Given the description of an element on the screen output the (x, y) to click on. 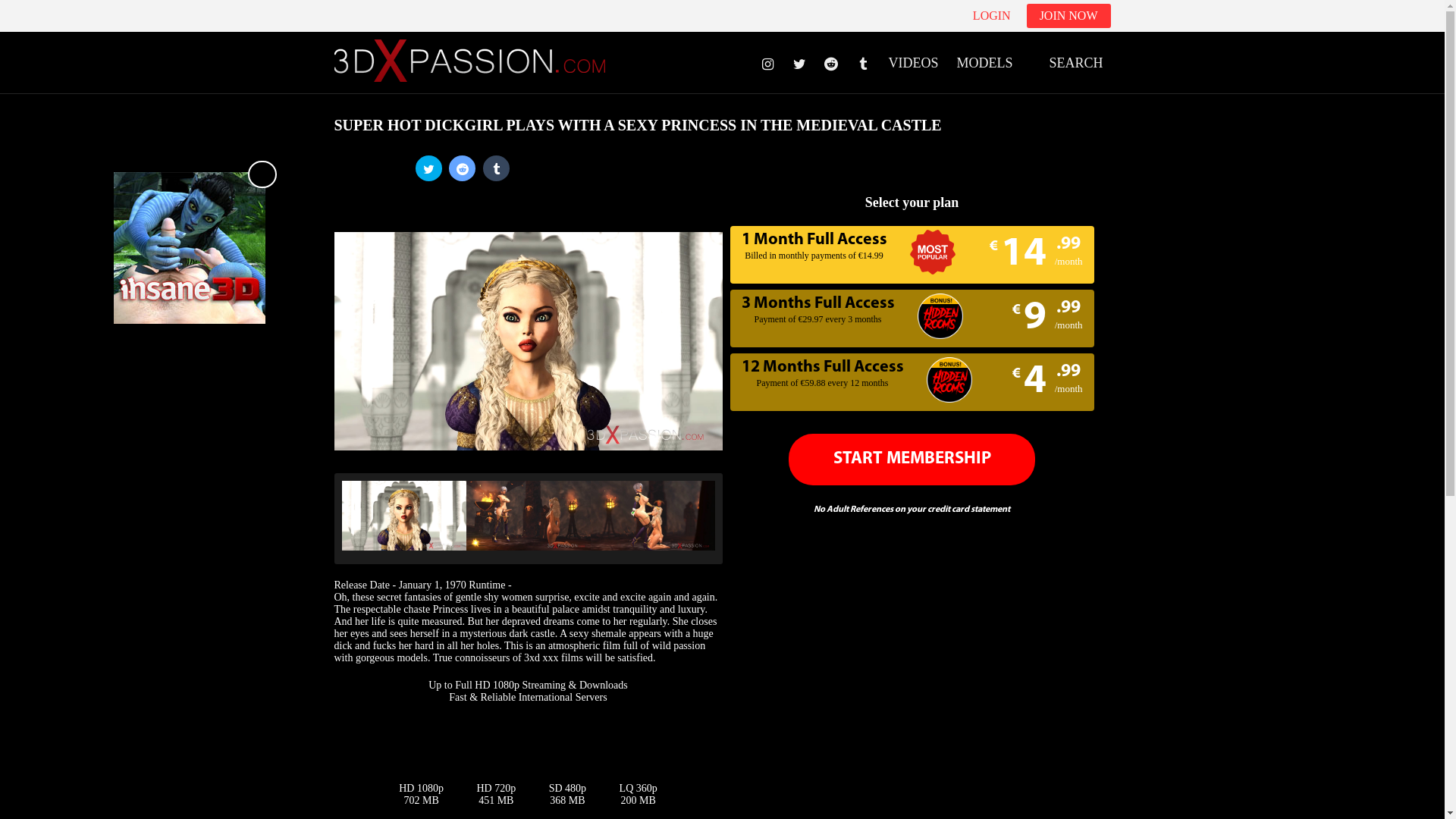
HD 720p
451 MB Element type: text (495, 794)
SEARCH Element type: text (1066, 59)
SD 480p
368 MB Element type: text (567, 794)
VIDEOS Element type: text (912, 59)
JOIN NOW Element type: text (1068, 15)
START MEMBERSHIP Element type: text (911, 459)
HD 1080p
702 MB Element type: text (420, 794)
MODELS Element type: text (983, 59)
LQ 360p
200 MB Element type: text (638, 794)
LOGIN Element type: text (991, 15)
